Given the description of an element on the screen output the (x, y) to click on. 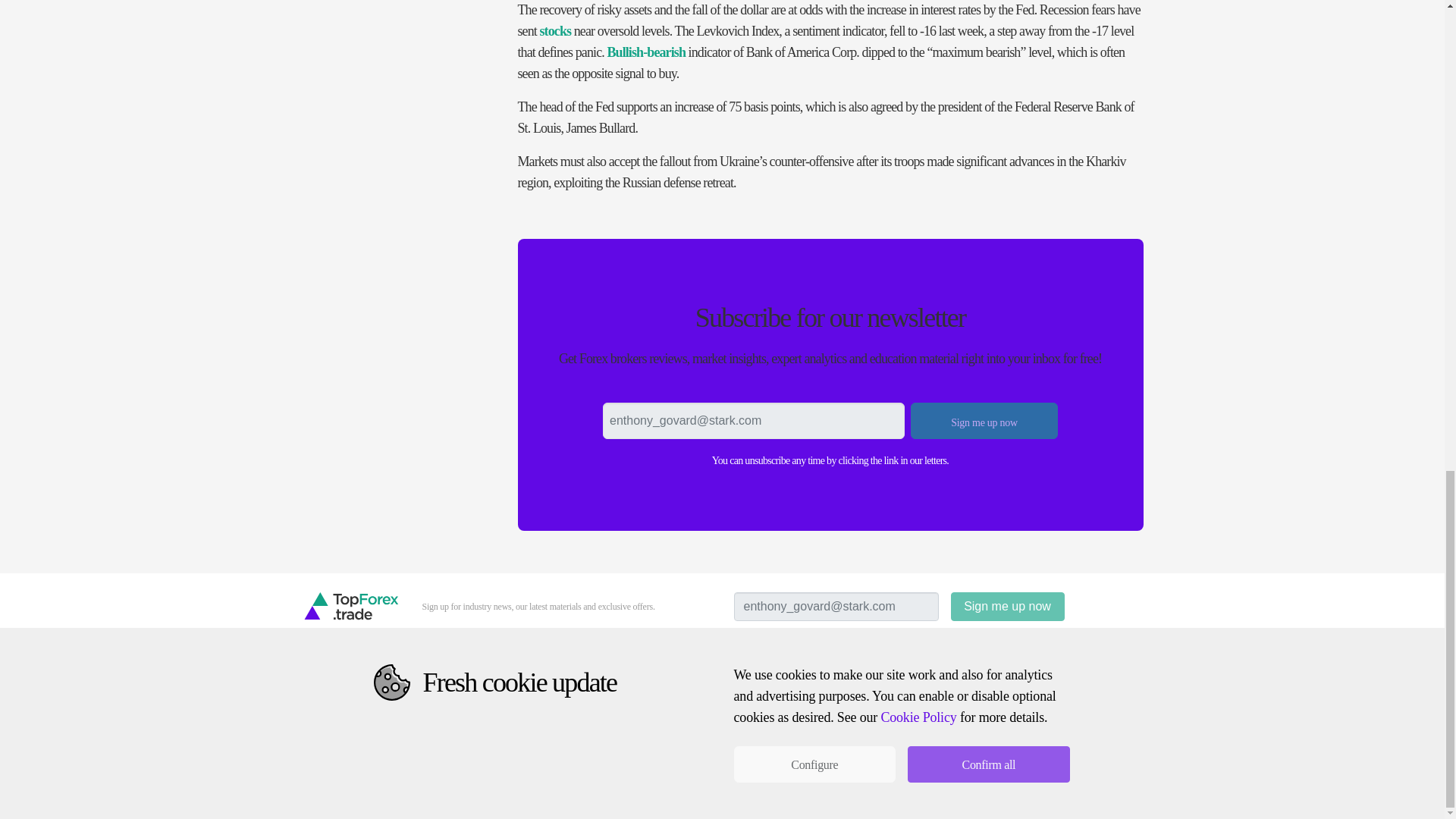
stocks (556, 30)
Bullish-bearish (646, 52)
Sign me up now (984, 420)
Sign me up now (1007, 606)
